Given the description of an element on the screen output the (x, y) to click on. 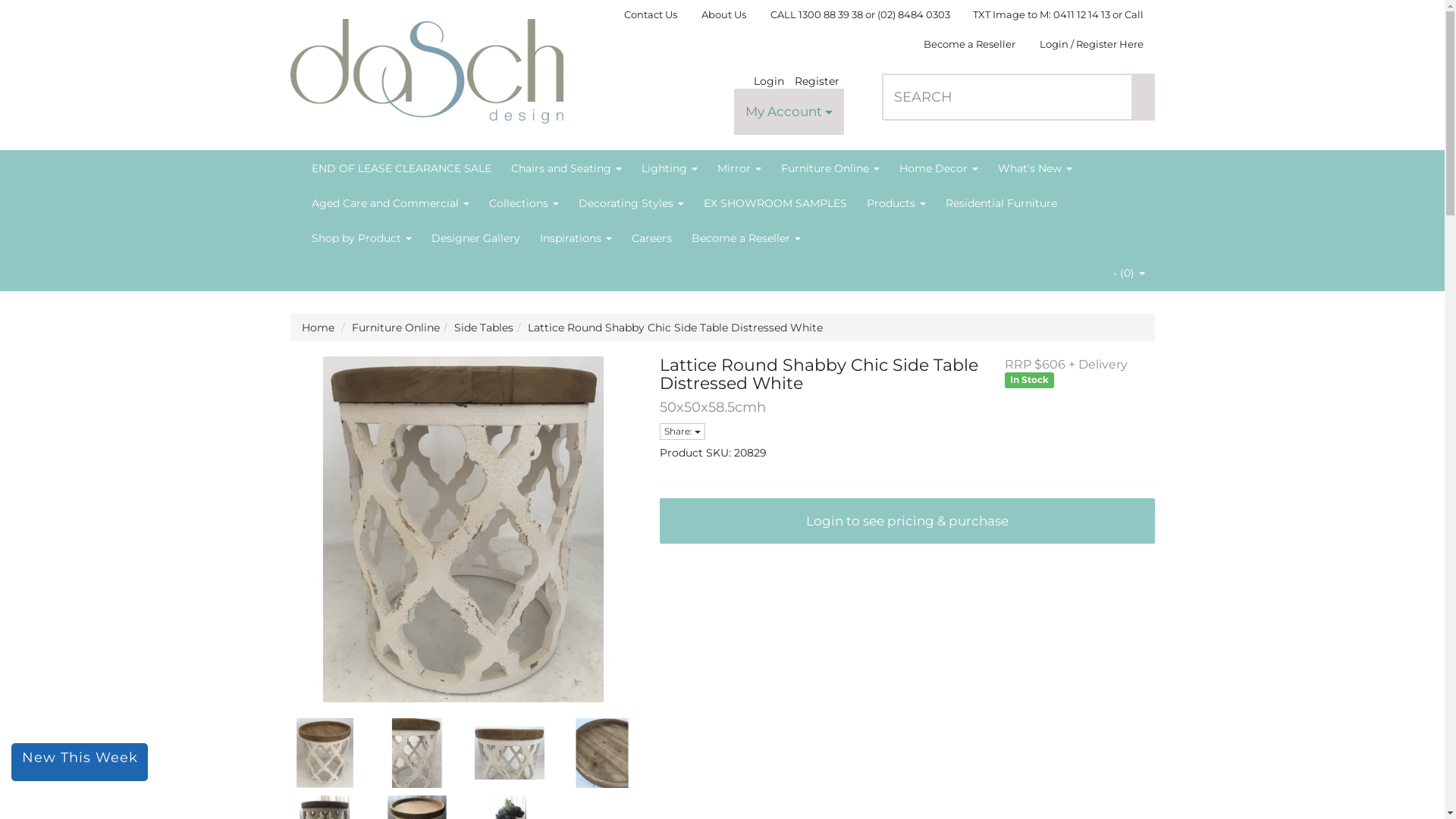
Decorating Styles Element type: text (630, 202)
Careers Element type: text (651, 237)
About Us Element type: text (723, 14)
Shop by Product Element type: text (361, 237)
Designer Gallery Element type: text (475, 237)
What's New Element type: text (1034, 167)
Login Element type: text (772, 80)
Search Element type: text (1142, 96)
Large View Element type: hover (416, 752)
Side Tables Element type: text (482, 327)
Aged Care and Commercial Element type: text (390, 202)
Share: Element type: text (682, 431)
Furniture Online Element type: text (395, 327)
Inspirations Element type: text (575, 237)
New This Week Element type: text (79, 762)
EX SHOWROOM SAMPLES Element type: text (774, 202)
CALL 1300 88 39 38 or (02) 8484 0303 Element type: text (859, 14)
TXT Image to M: 0411 12 14 13 or Call Element type: text (1057, 14)
Contact Us Element type: text (650, 14)
Products Element type: text (895, 202)
Dasch Design Element type: hover (425, 65)
Large View Element type: hover (324, 752)
Register Element type: text (816, 80)
Lattice Round Shabby Chic Side Table Distressed White Element type: text (674, 327)
Lighting Element type: text (668, 167)
Login / Register Here Element type: text (1091, 44)
Furniture Online Element type: text (829, 167)
My Account Element type: text (789, 111)
Become a Reseller Element type: text (744, 237)
Chairs and Seating Element type: text (565, 167)
END OF LEASE CLEARANCE SALE Element type: text (401, 167)
Mirror Element type: text (738, 167)
Residential Furniture Element type: text (1000, 202)
Login to see pricing & purchase Element type: text (906, 521)
Become a Reseller Element type: text (968, 44)
Collections Element type: text (523, 202)
- (0) Element type: text (1128, 272)
Home Element type: text (317, 327)
Large View Element type: hover (602, 752)
Large View Element type: hover (509, 752)
Home Decor Element type: text (937, 167)
